Given the description of an element on the screen output the (x, y) to click on. 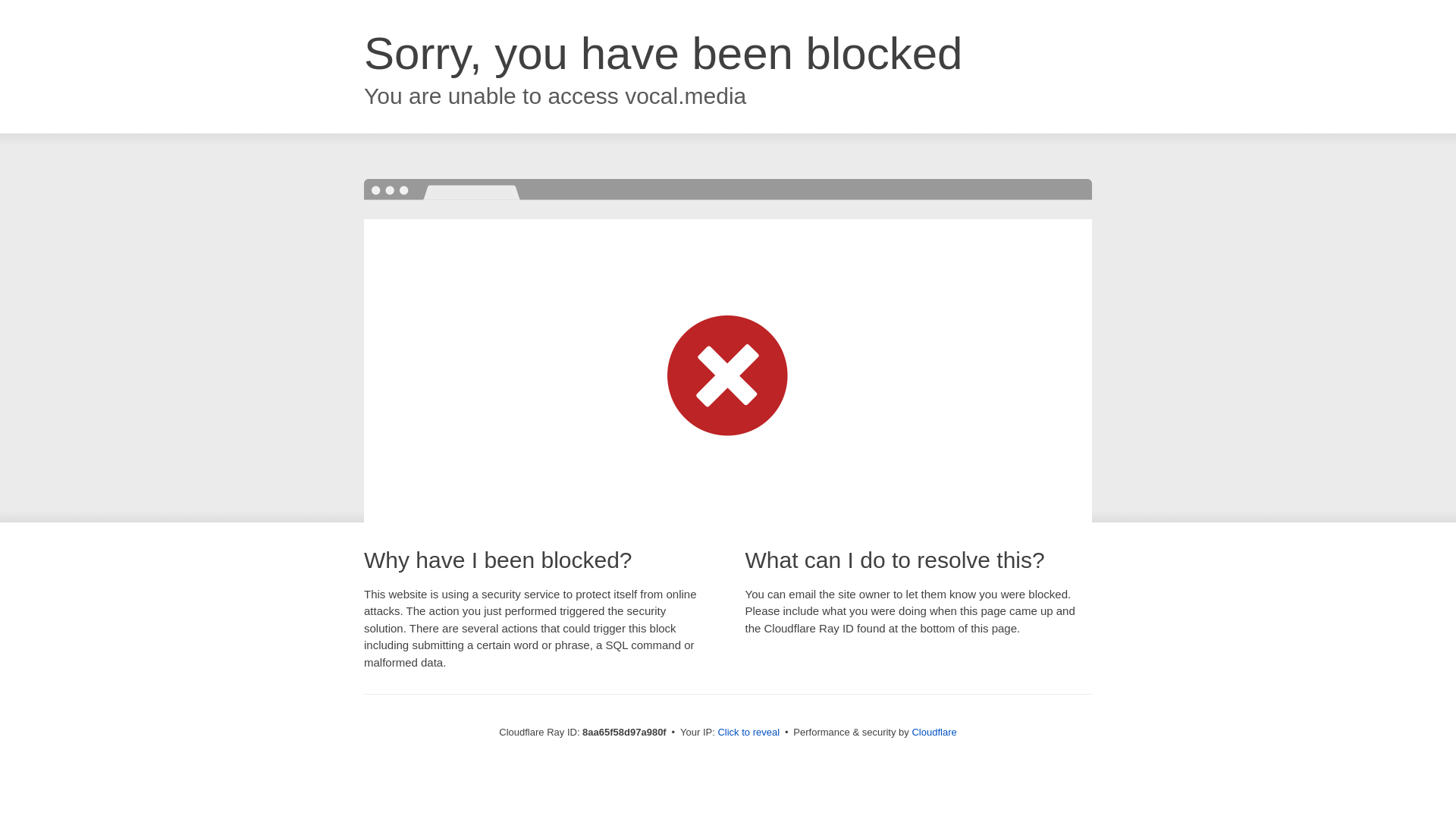
Click to reveal (747, 732)
Cloudflare (933, 731)
